Given the description of an element on the screen output the (x, y) to click on. 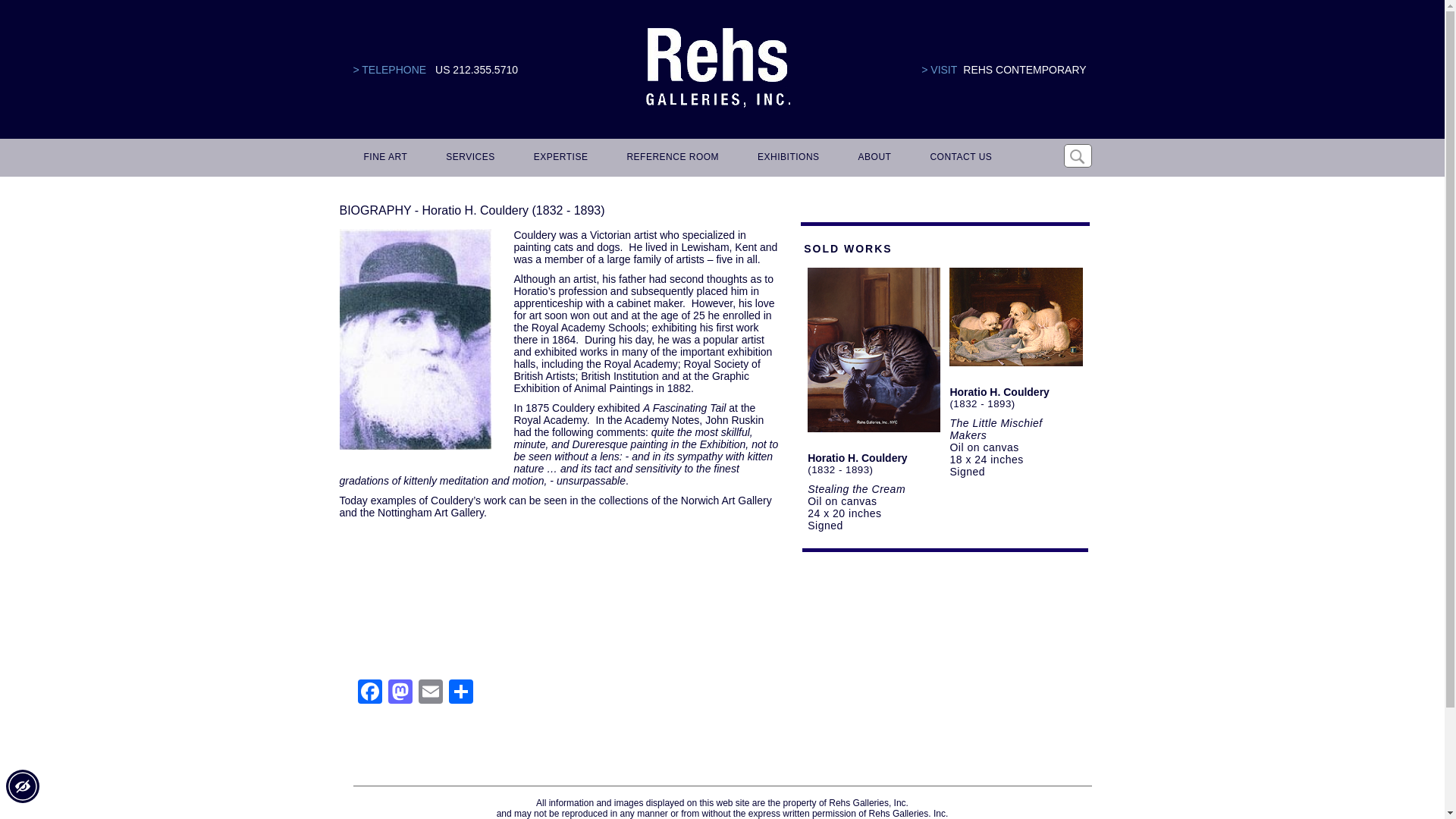
Logo (717, 67)
EXPERTISE (558, 157)
Accessibility Menu (22, 786)
Share (460, 693)
REFERENCE ROOM (670, 157)
The Little Mischief Makers (995, 428)
Mastodon (399, 693)
Mastodon (399, 693)
EXHIBITIONS (785, 157)
REHS CONTEMPORARY (1024, 69)
FINE ART (383, 157)
CONTACT US (957, 157)
Email (429, 693)
Stealing the Cream (856, 489)
ABOUT (872, 157)
